Given the description of an element on the screen output the (x, y) to click on. 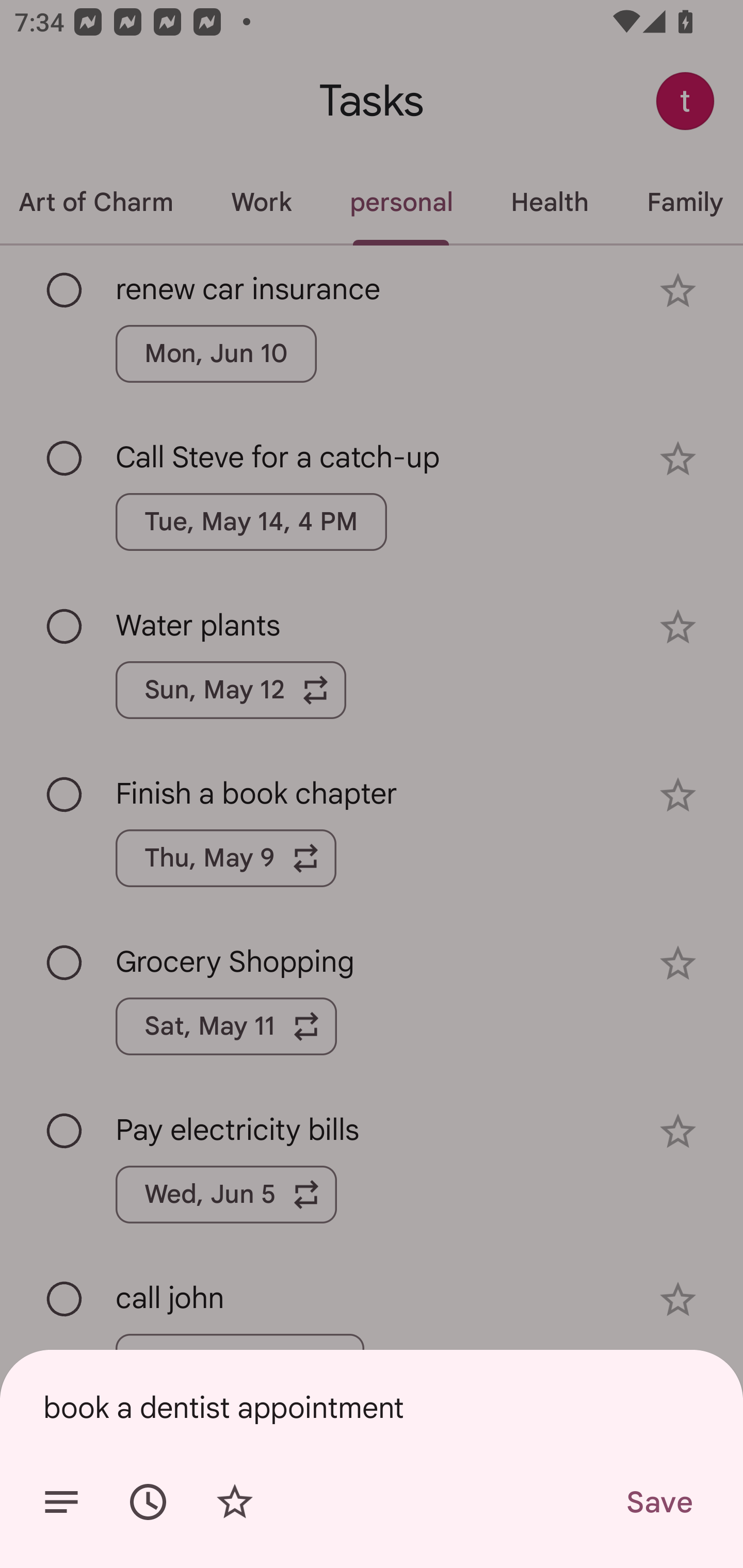
book a dentist appointment (371, 1407)
Save (659, 1501)
Add details (60, 1501)
Set date/time (147, 1501)
Add star (234, 1501)
